Given the description of an element on the screen output the (x, y) to click on. 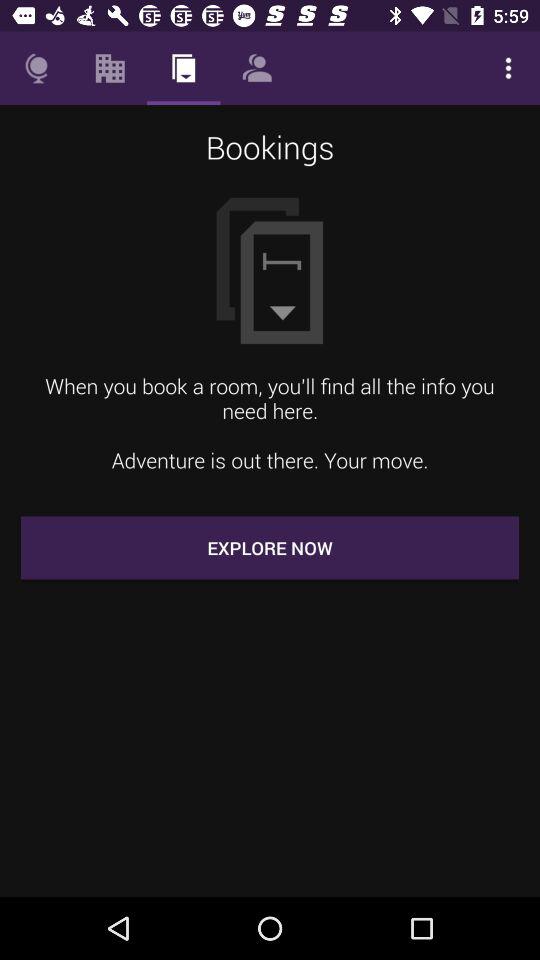
tap the item below the when you book item (270, 547)
